Given the description of an element on the screen output the (x, y) to click on. 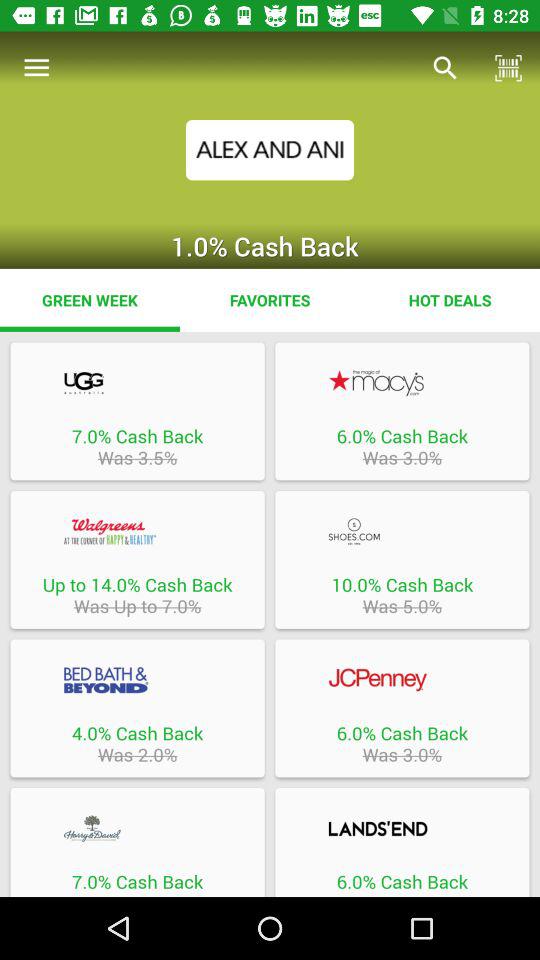
open this card (137, 679)
